Given the description of an element on the screen output the (x, y) to click on. 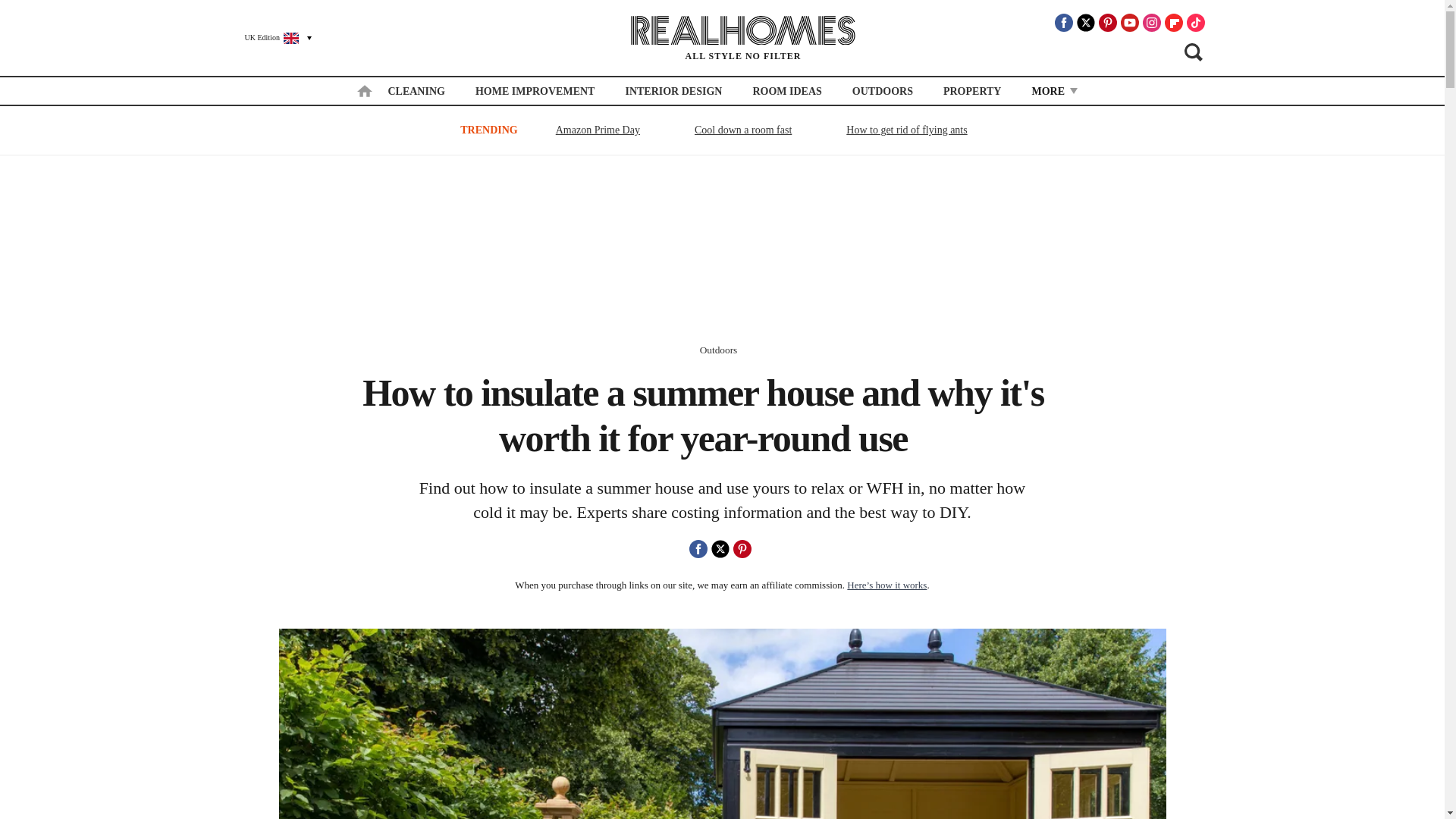
Amazon Prime Day (597, 129)
CLEANING (415, 90)
Cool down a room fast (742, 129)
How to get rid of flying ants (906, 129)
ALL STYLE NO FILTER (742, 38)
PROPERTY (972, 90)
OUTDOORS (881, 90)
UK Edition (271, 37)
INTERIOR DESIGN (673, 90)
HOME IMPROVEMENT (535, 90)
Outdoors (719, 349)
ROOM IDEAS (786, 90)
